Given the description of an element on the screen output the (x, y) to click on. 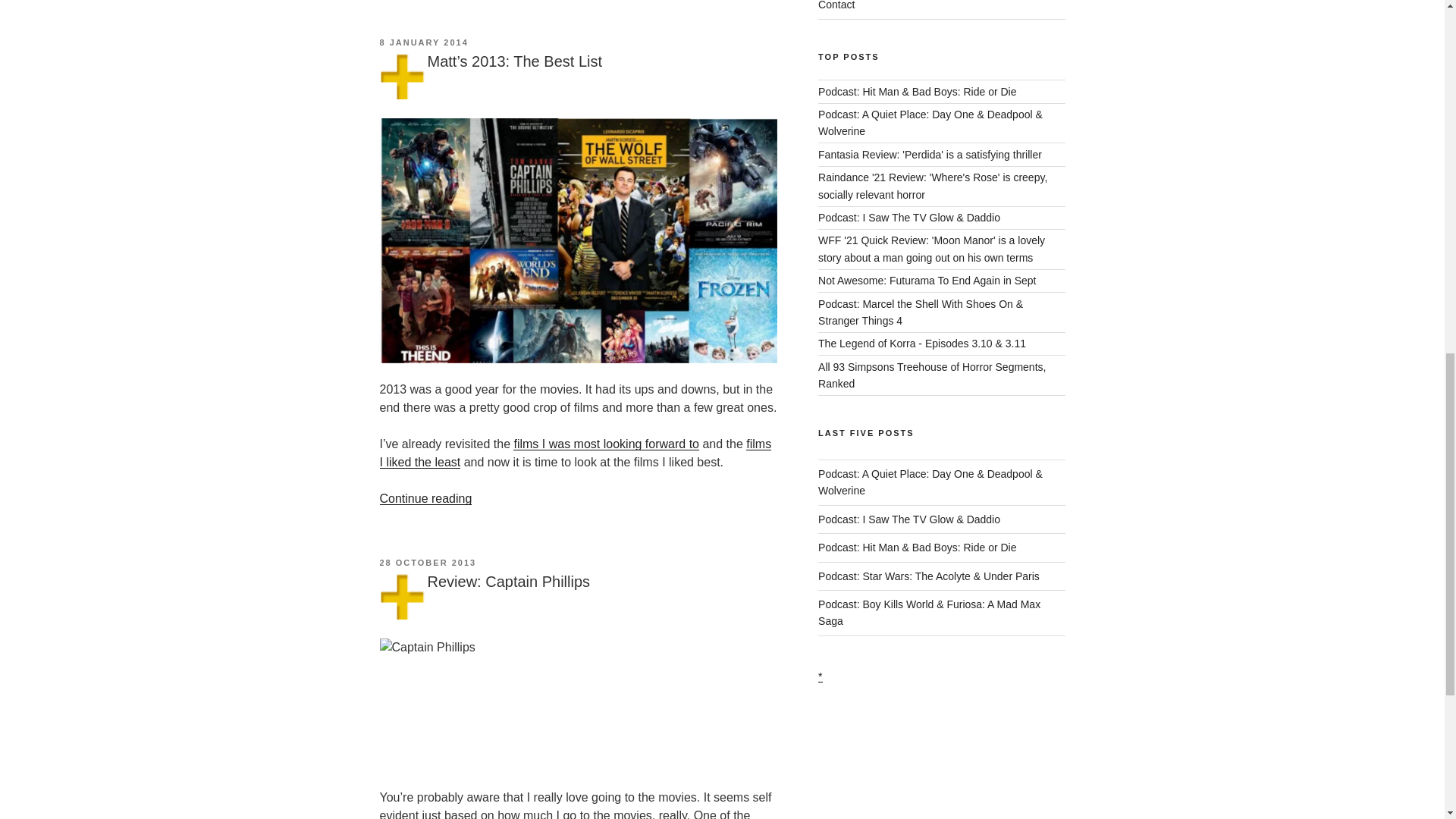
films I was most looking forward to (605, 443)
Fantasia Review: 'Perdida' is a satisfying thriller (930, 154)
8 JANUARY 2014 (422, 41)
Contact (836, 5)
Not Awesome: Futurama To End Again in Sept (926, 280)
28 OCTOBER 2013 (427, 562)
films I liked the least (574, 452)
Review: Captain Phillips (509, 581)
